Given the description of an element on the screen output the (x, y) to click on. 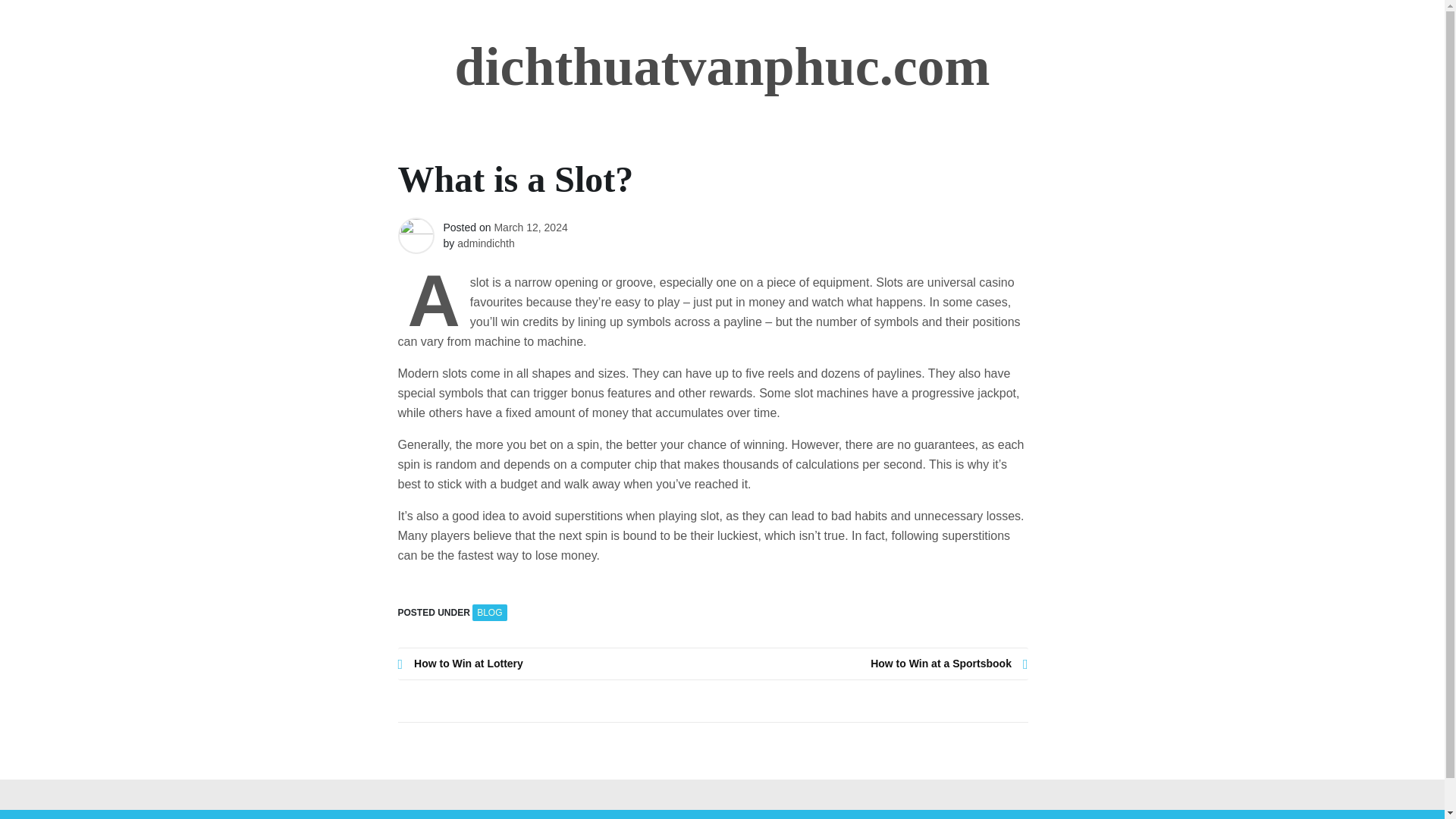
How to Win at Lottery (555, 663)
Search (30, 12)
BLOG (488, 612)
admindichth (486, 243)
How to Win at a Sportsbook (870, 663)
dichthuatvanphuc.com (722, 66)
March 12, 2024 (530, 227)
